Given the description of an element on the screen output the (x, y) to click on. 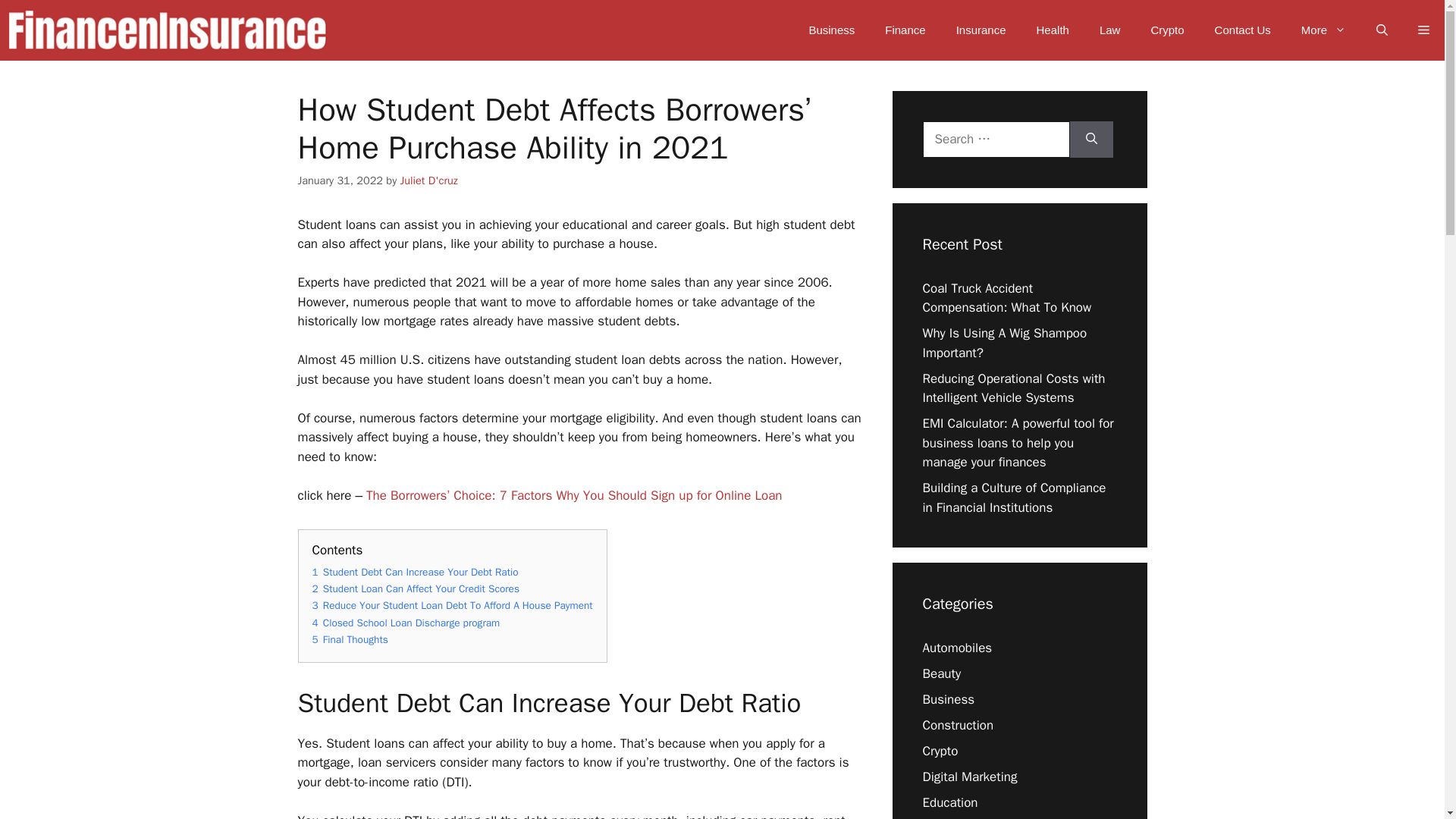
Crypto (1166, 30)
5 Final Thoughts (350, 639)
Beauty (940, 673)
Insurance (981, 30)
3 Reduce Your Student Loan Debt To Afford A House Payment (452, 604)
1 Student Debt Can Increase Your Debt Ratio (415, 571)
Finance (904, 30)
Coal Truck Accident Compensation: What To Know (1005, 298)
Law (1109, 30)
Building a Culture of Compliance in Financial Institutions (1013, 497)
